Given the description of an element on the screen output the (x, y) to click on. 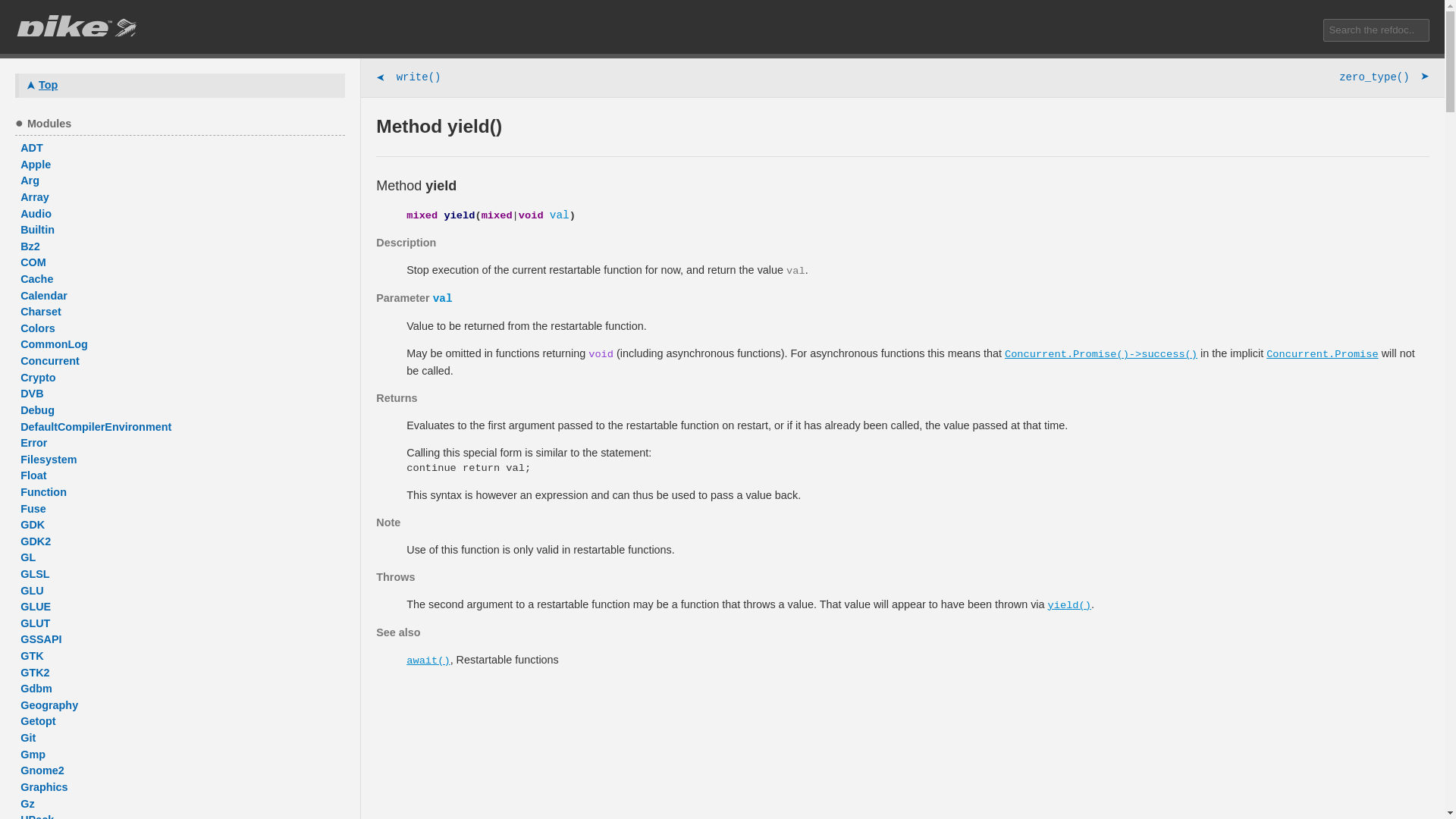
Concurrent (182, 361)
Calendar (182, 296)
Arg (182, 180)
GLUE (182, 606)
Audio (182, 214)
Fuse (182, 509)
DVB (182, 393)
Git (182, 738)
ADT (182, 148)
GTK (182, 656)
